Given the description of an element on the screen output the (x, y) to click on. 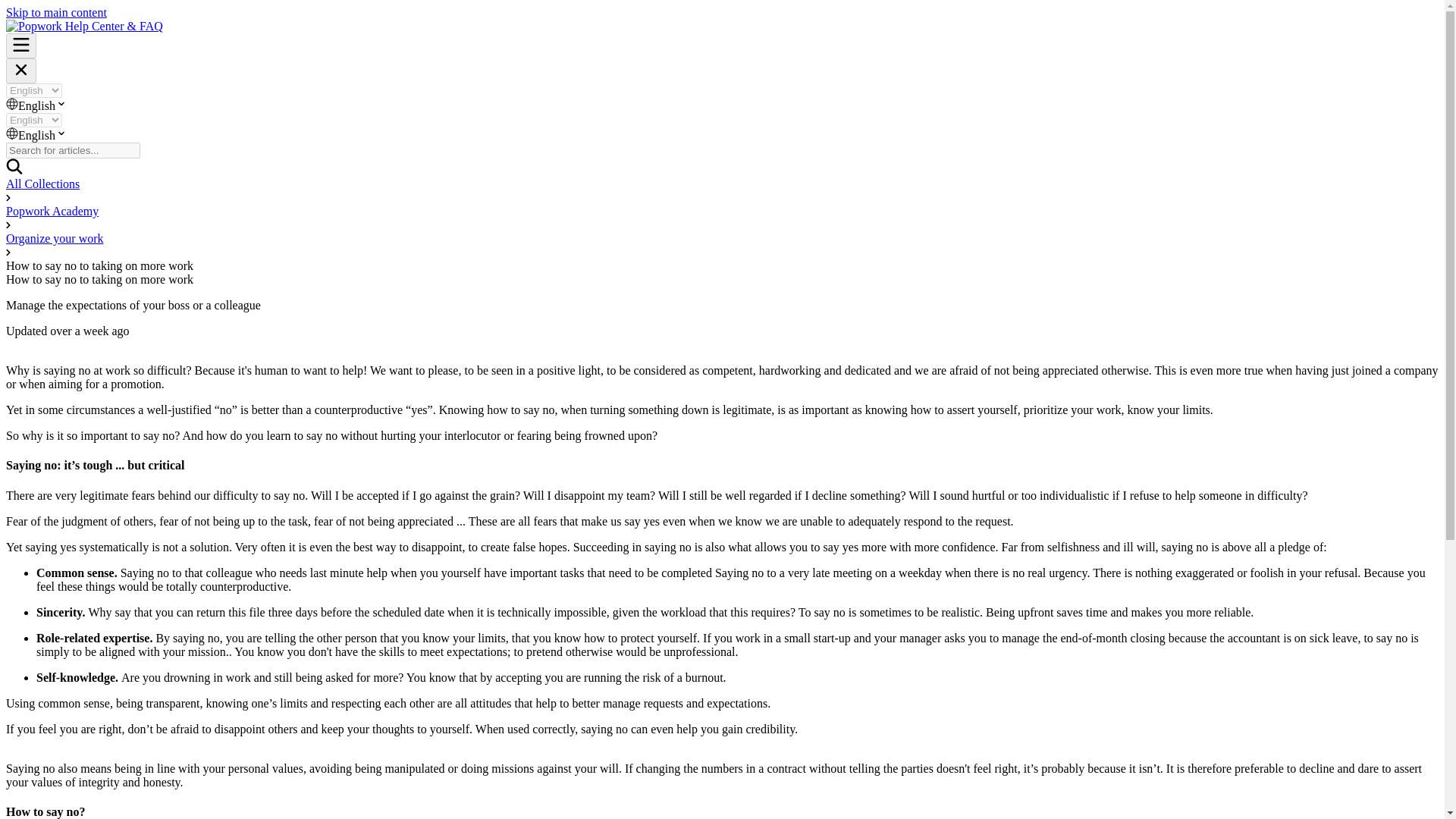
All Collections (42, 183)
Organize your work (54, 237)
Popwork Academy (52, 210)
Skip to main content (55, 11)
